Given the description of an element on the screen output the (x, y) to click on. 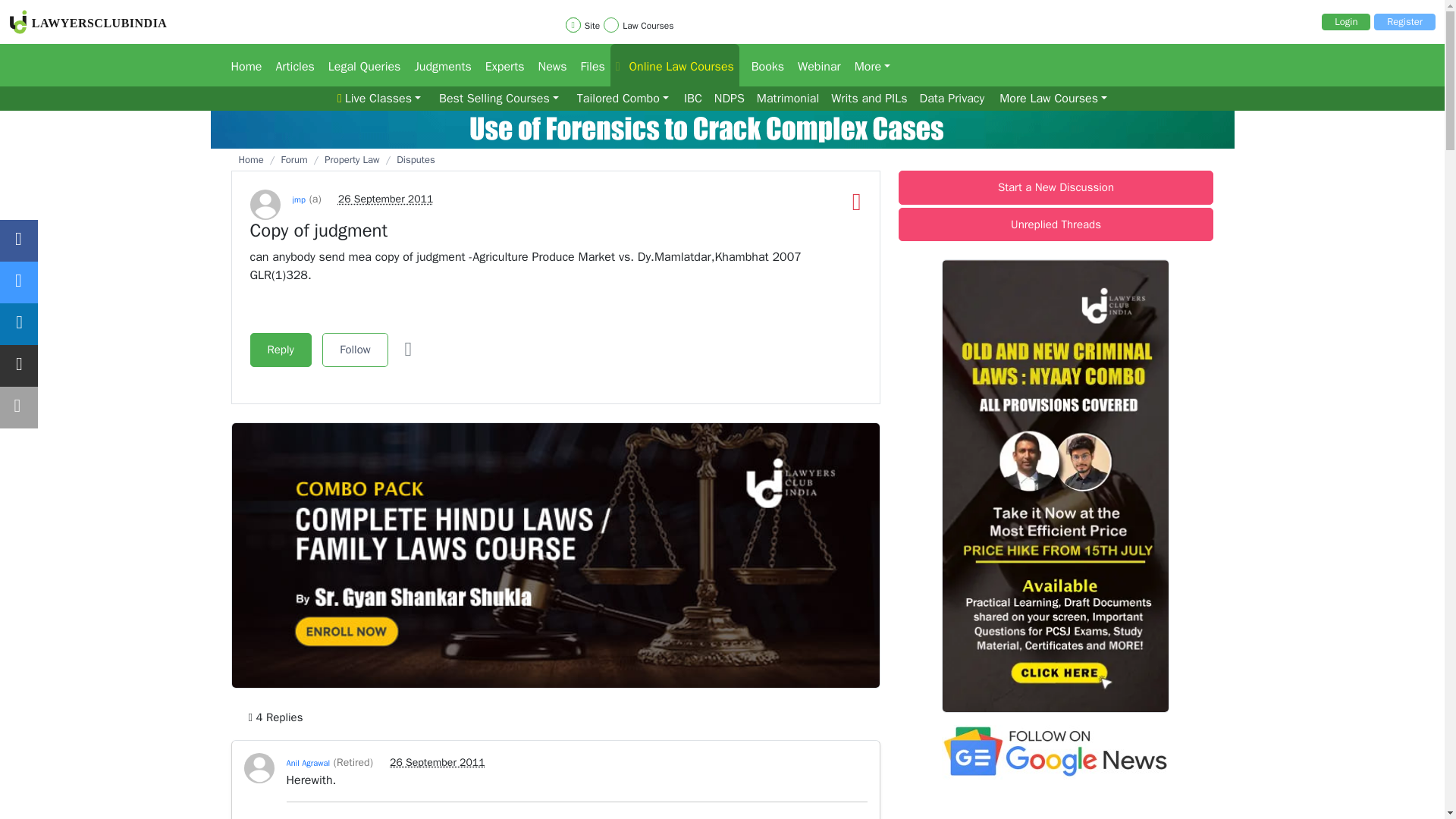
News (547, 65)
Best Selling Courses (498, 98)
Books (762, 65)
Files  (589, 65)
Webinar (814, 65)
Register (1404, 21)
Articles (289, 65)
Live Classes (378, 98)
More (867, 65)
Judgments (436, 65)
Login (1346, 21)
Legal Queries (359, 65)
Judgments (436, 65)
Articles (289, 65)
Share Files (589, 65)
